Given the description of an element on the screen output the (x, y) to click on. 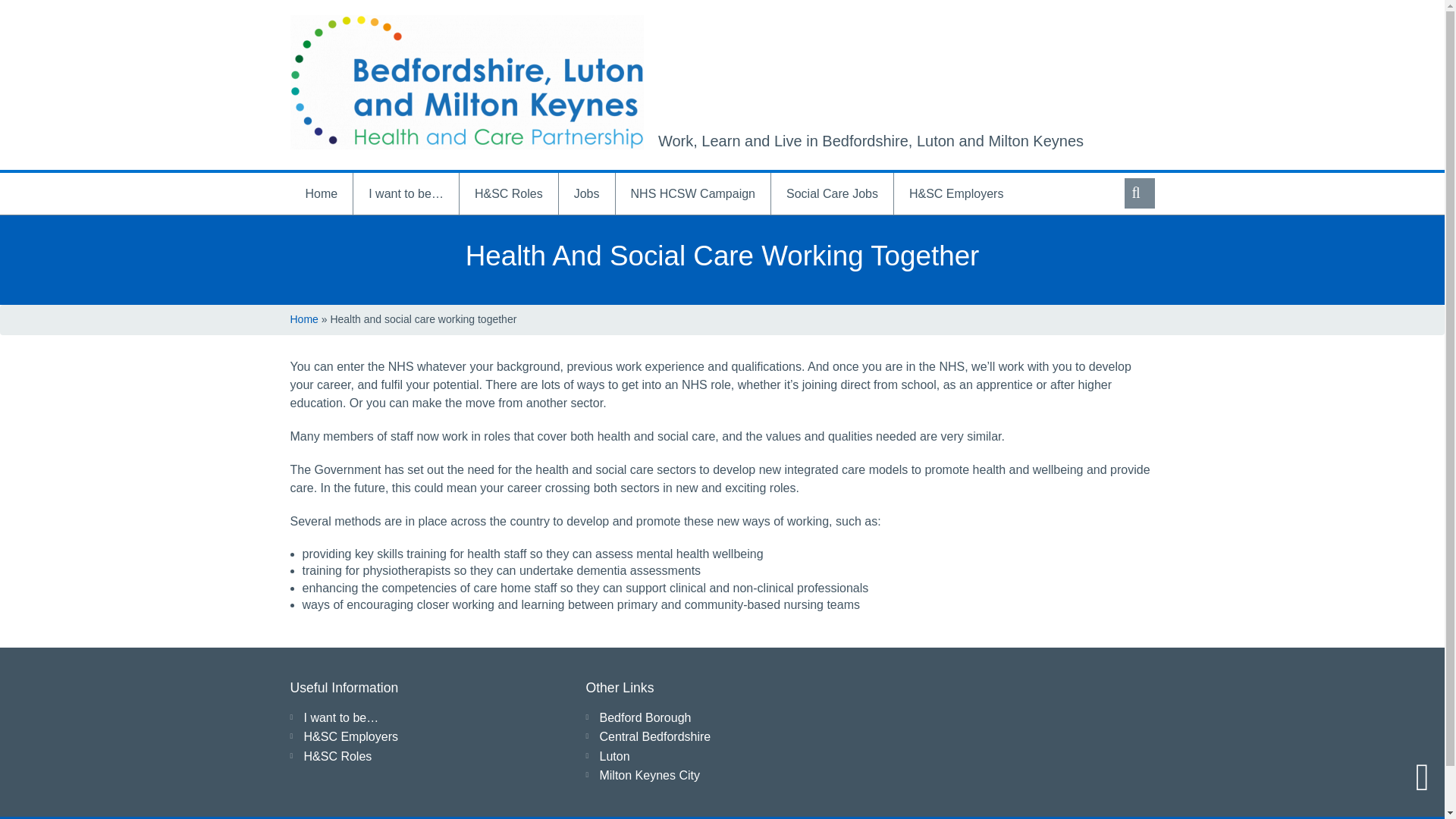
Bedford Borough (644, 717)
NHS HCSW Campaign (692, 193)
CCG Attraction (466, 82)
Jobs (586, 193)
Luton (613, 756)
Milton Keynes City (649, 775)
Home (320, 193)
Home (303, 318)
Social Care Jobs (832, 193)
Central Bedfordshire (654, 736)
